Given the description of an element on the screen output the (x, y) to click on. 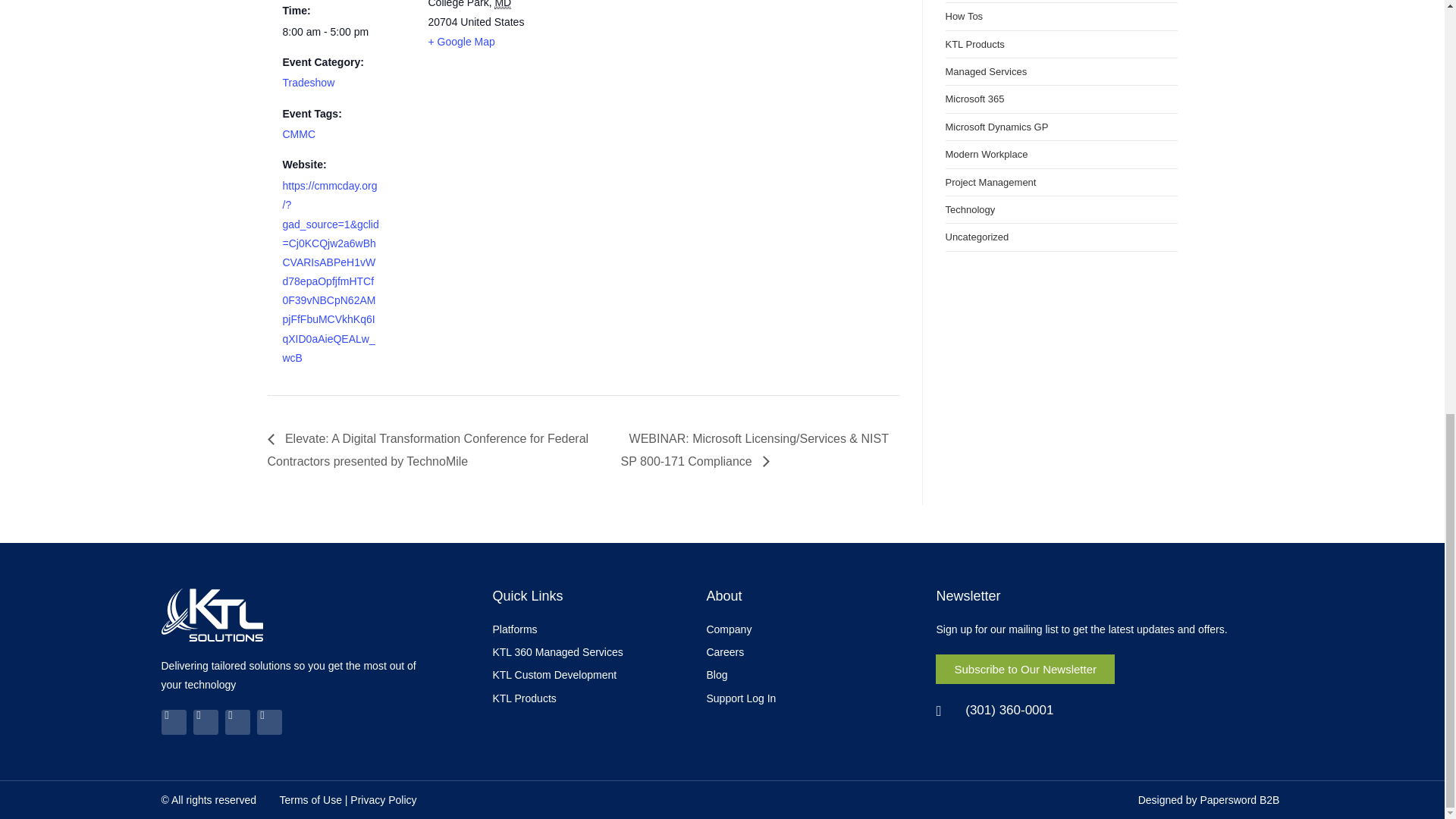
Google maps iframe displaying the address to The Hotel UMD (637, 46)
Click to view a Google Map (461, 41)
2024-05-06 (330, 31)
Maryland (503, 4)
